Given the description of an element on the screen output the (x, y) to click on. 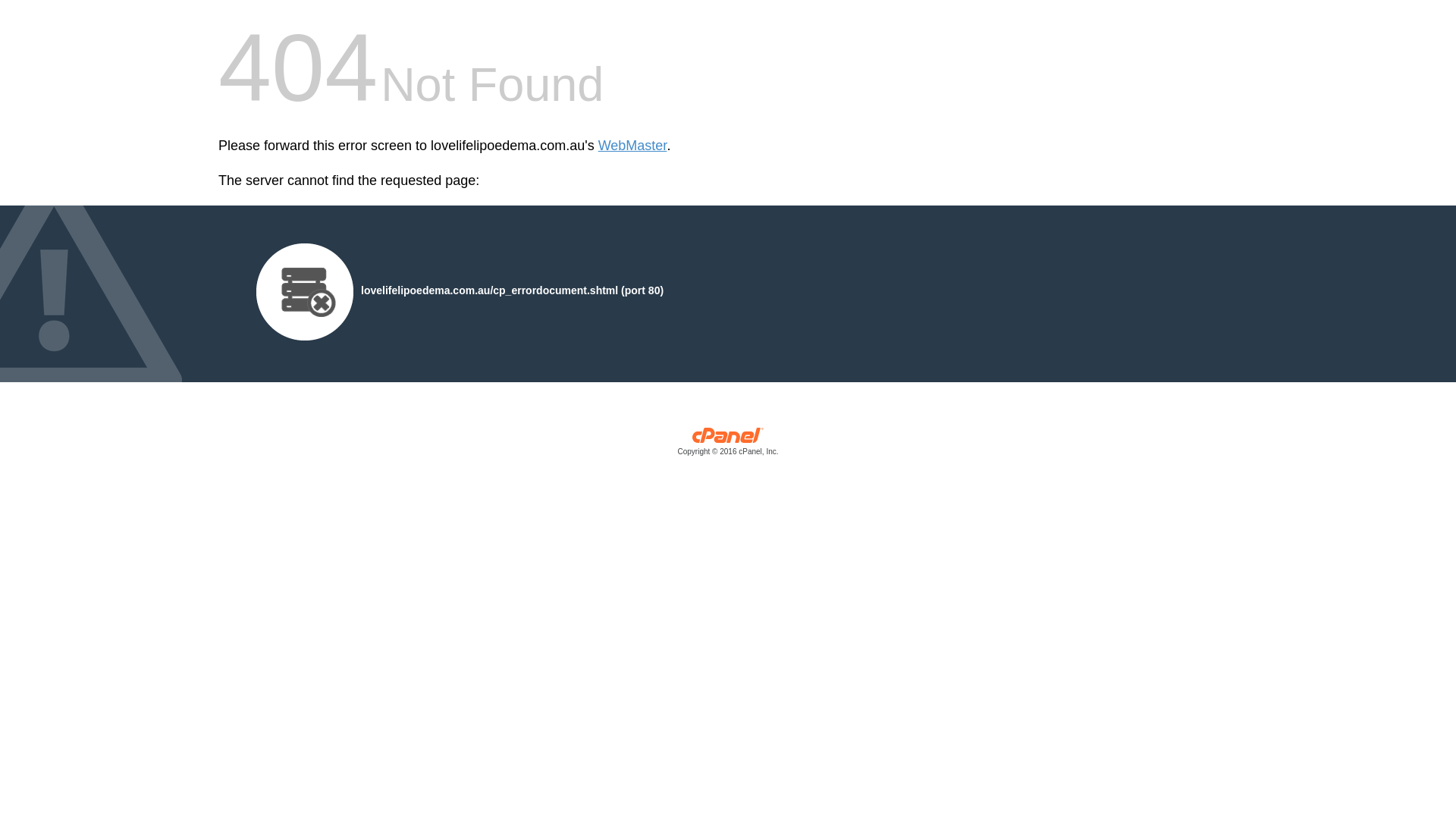
WebMaster Element type: text (632, 145)
